Given the description of an element on the screen output the (x, y) to click on. 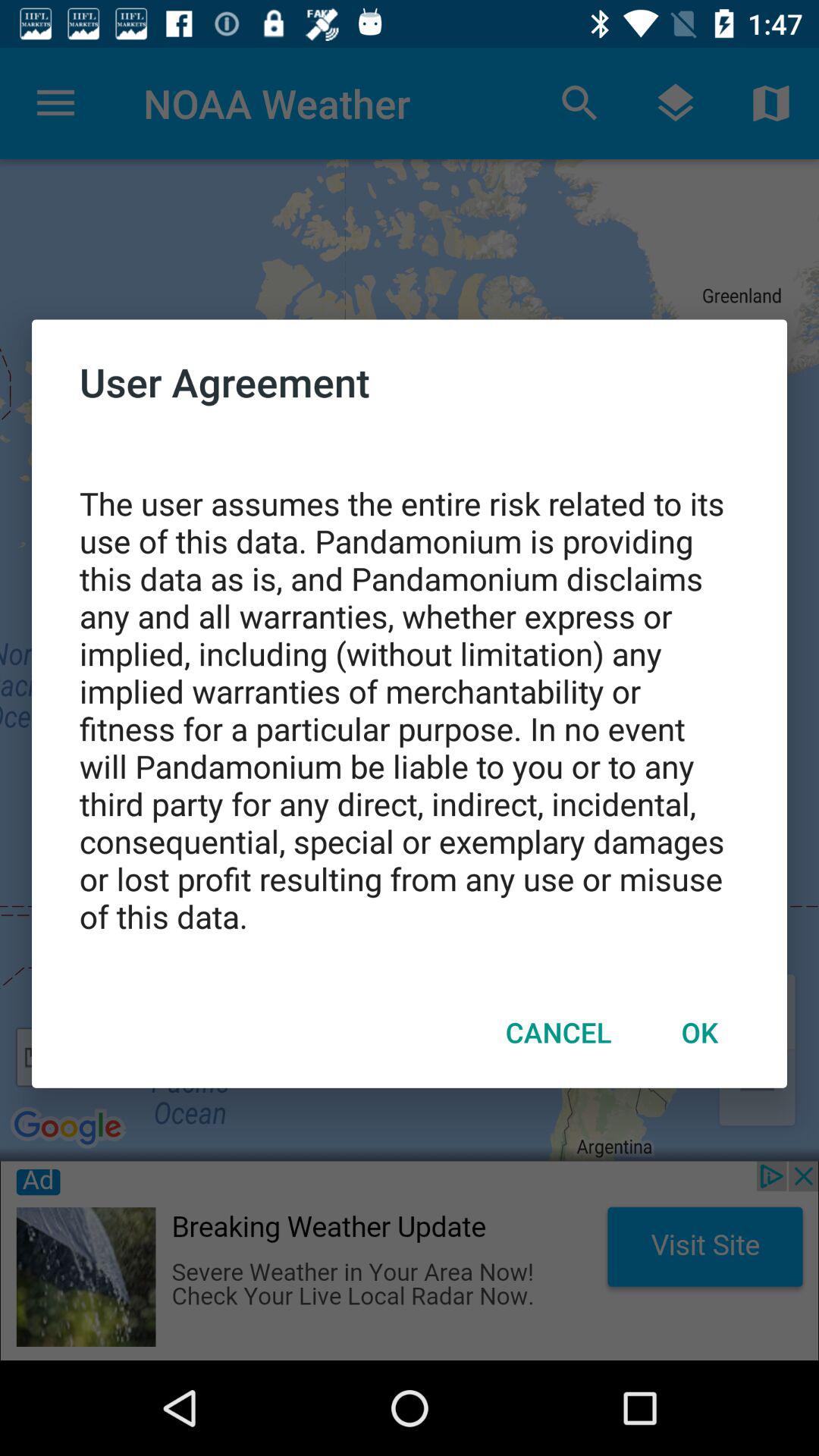
turn on cancel item (558, 1032)
